Given the description of an element on the screen output the (x, y) to click on. 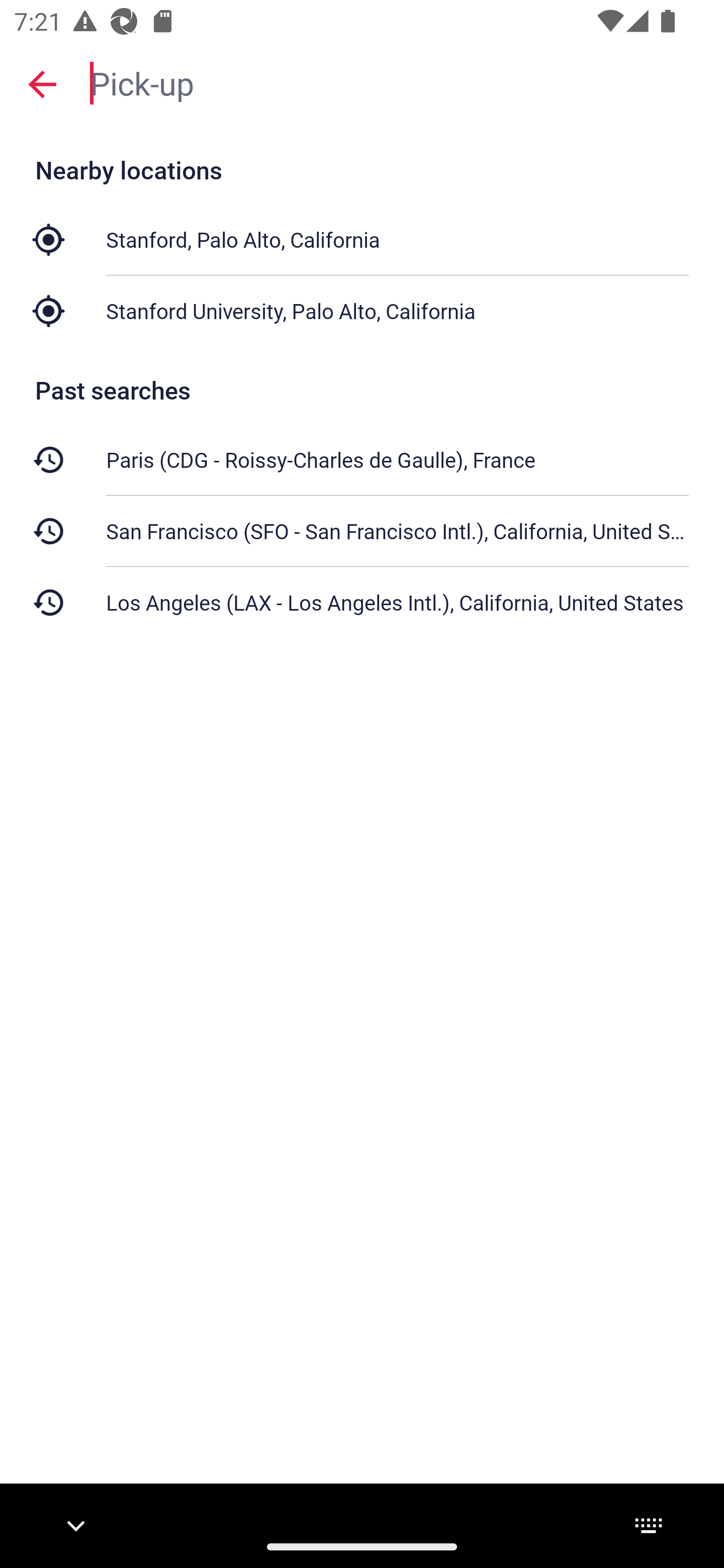
Pick-up,  (397, 82)
Close search screen (41, 83)
